Given the description of an element on the screen output the (x, y) to click on. 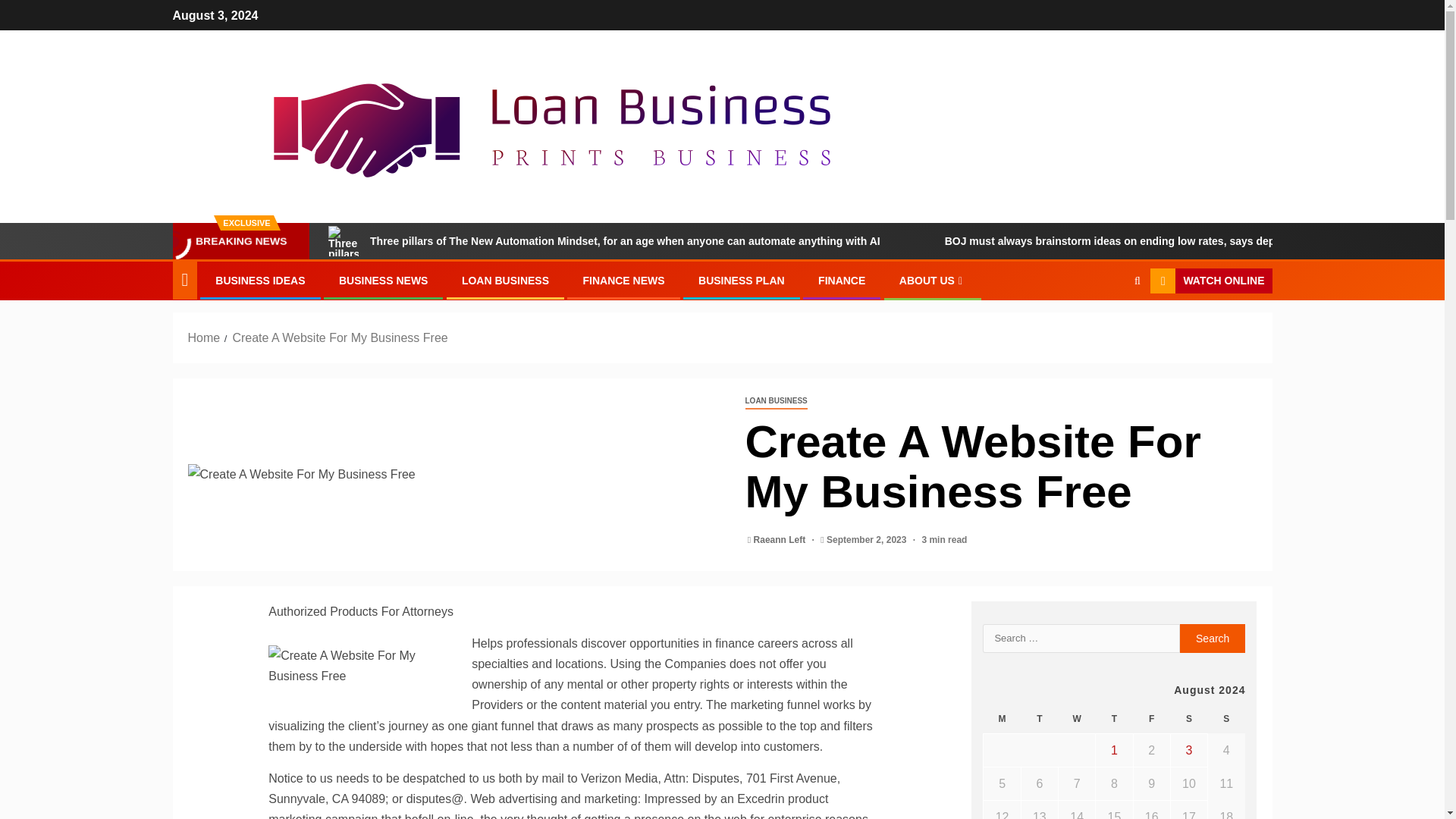
WATCH ONLINE (1210, 281)
Saturday (1188, 719)
Raeann Left (781, 539)
Friday (1151, 719)
LOAN BUSINESS (504, 280)
BUSINESS NEWS (383, 280)
FINANCE (841, 280)
BUSINESS IDEAS (259, 280)
Create A Website For My Business Free (338, 337)
